Given the description of an element on the screen output the (x, y) to click on. 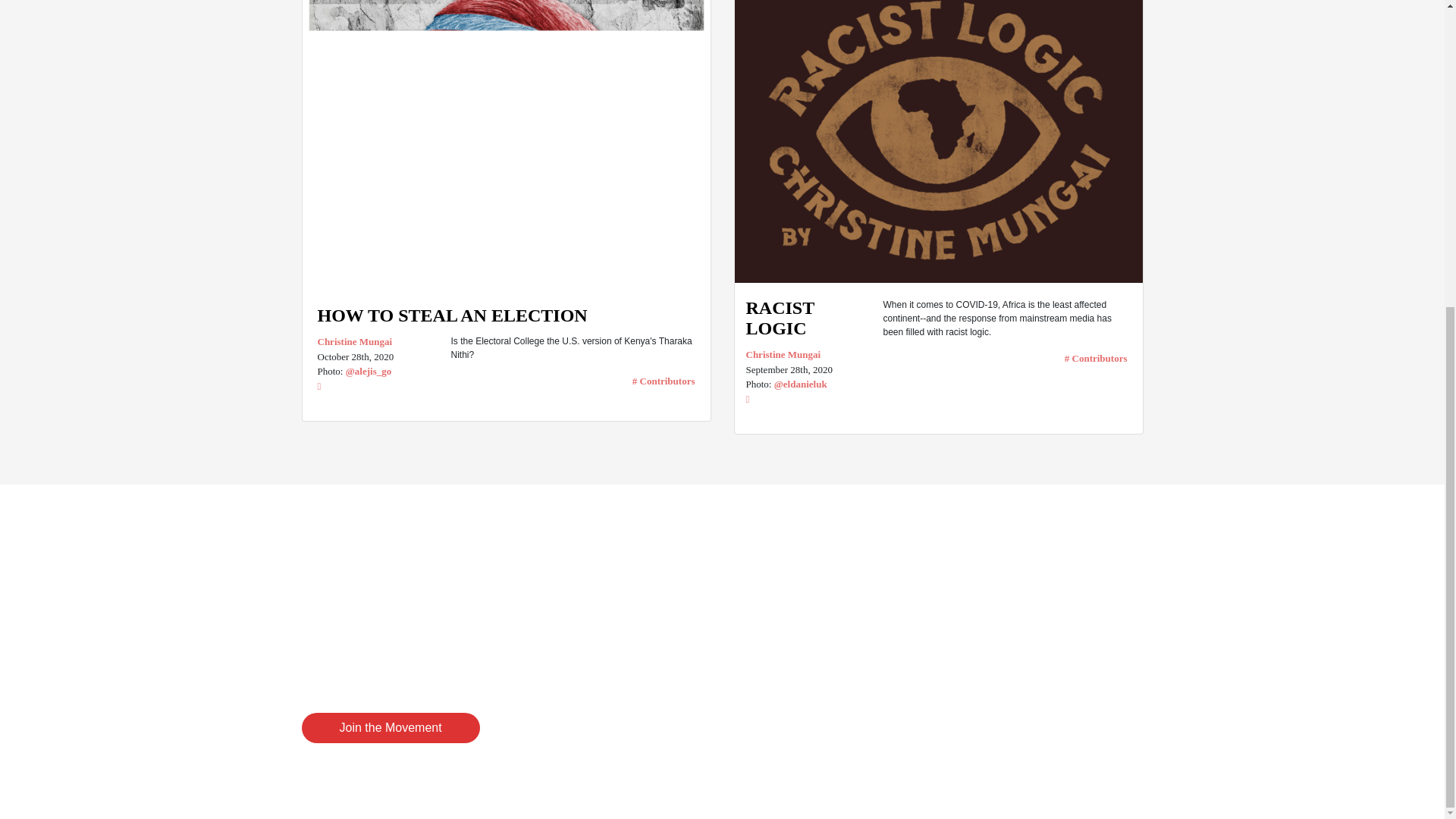
HOW TO STEAL AN ELECTION (451, 319)
RACIST LOGIC (937, 141)
RACIST LOGIC (808, 318)
Christine Mungai (808, 354)
Christine Mungai (372, 341)
RACIST LOGIC (808, 318)
HOW TO STEAL AN ELECTION (505, 145)
HOW TO STEAL AN ELECTION (451, 319)
Join the Movement (390, 727)
